Given the description of an element on the screen output the (x, y) to click on. 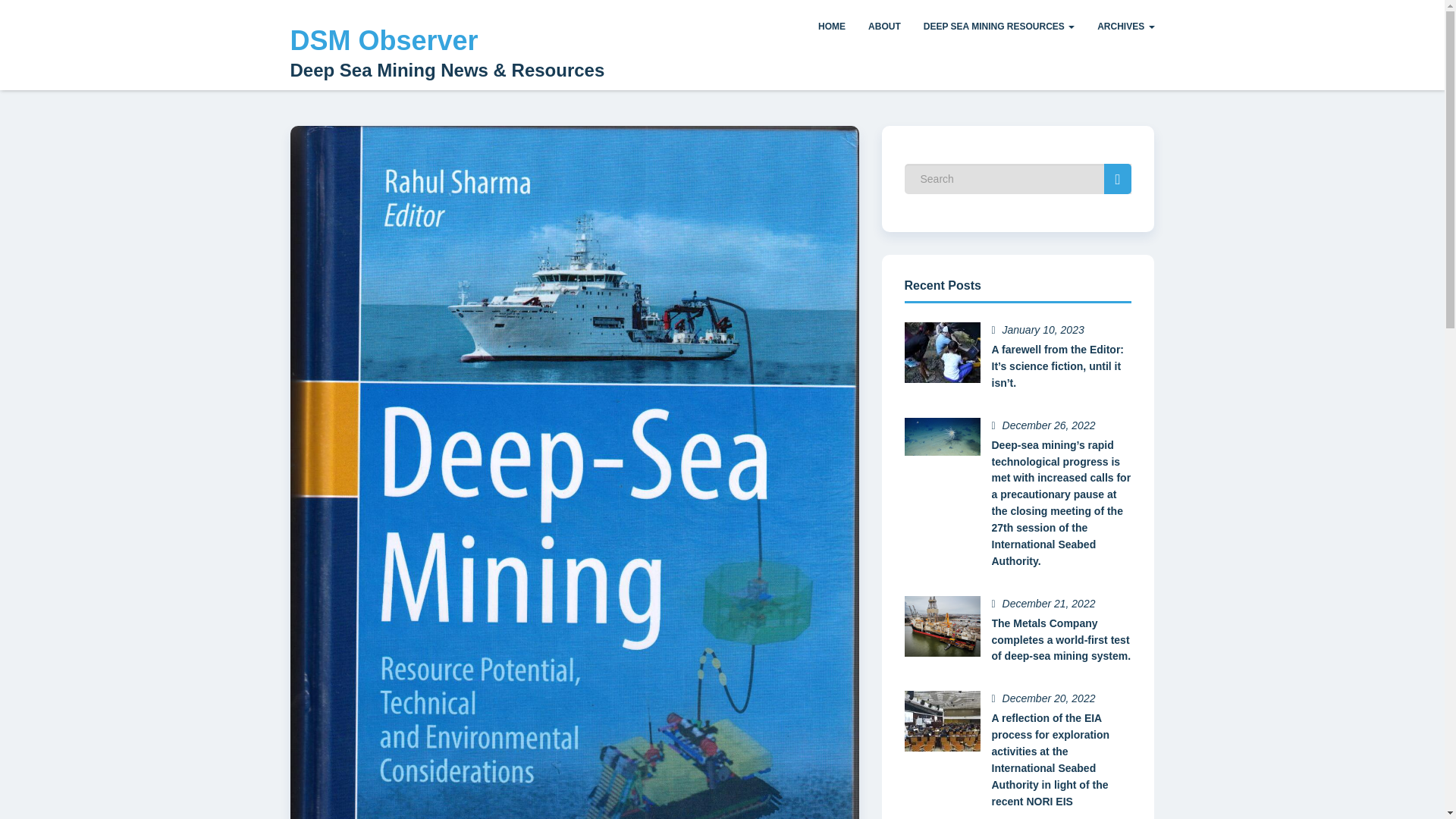
DSM Observer (383, 40)
Archives (1126, 27)
ARCHIVES (1126, 27)
DSM Observer (383, 40)
DEEP SEA MINING RESOURCES (999, 27)
Deep Sea Mining Resources (999, 27)
HOME (831, 27)
ABOUT (884, 27)
About (884, 27)
Home (831, 27)
